Given the description of an element on the screen output the (x, y) to click on. 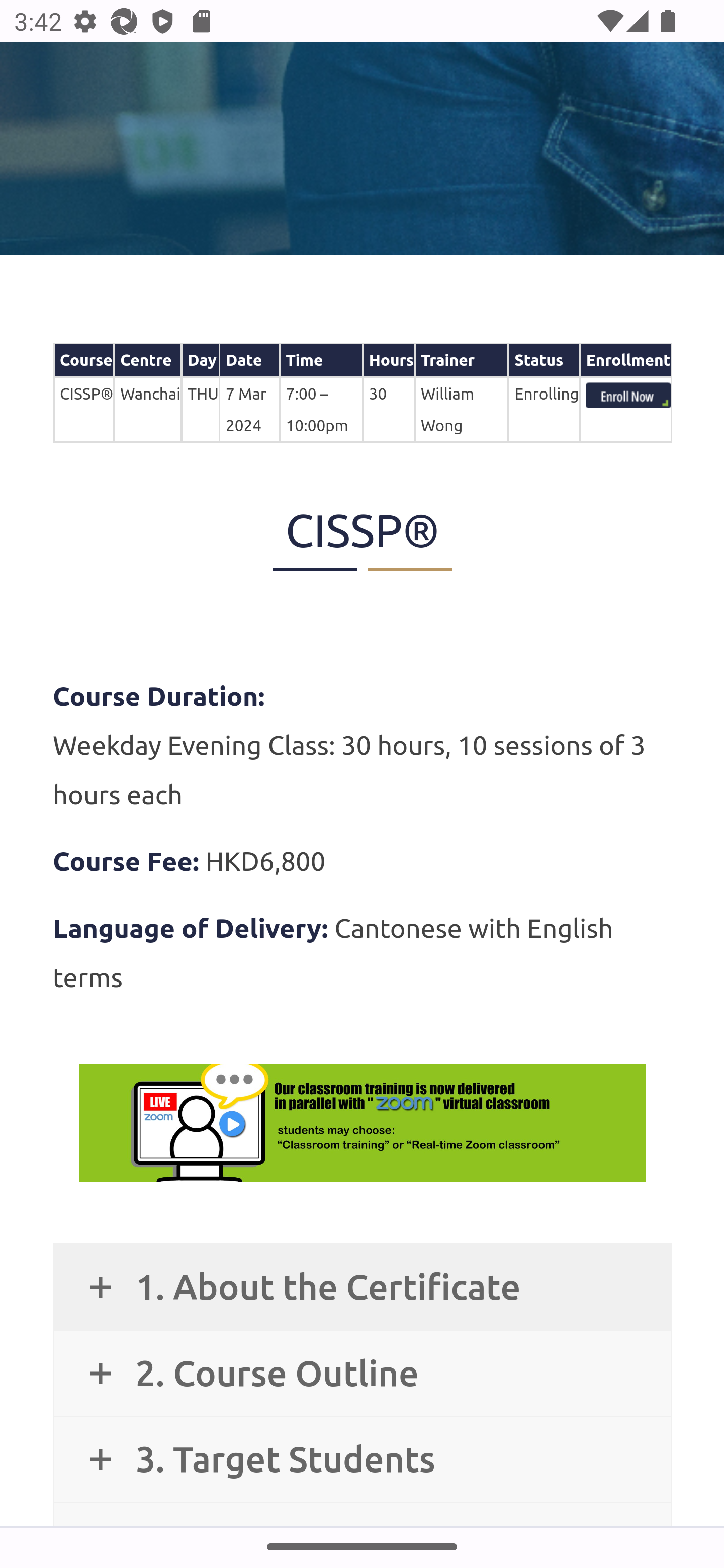
index (627, 397)
